Given the description of an element on the screen output the (x, y) to click on. 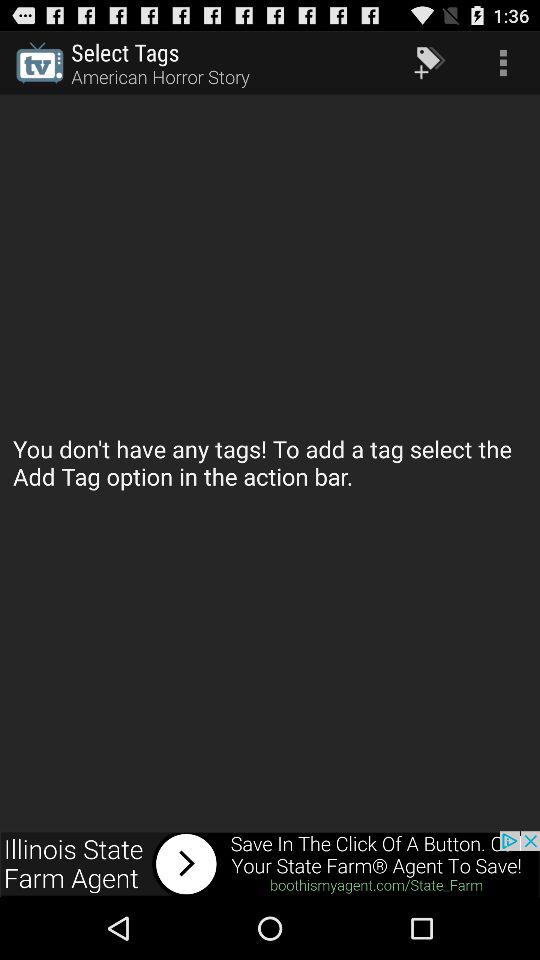
go to back arrow (270, 864)
